Given the description of an element on the screen output the (x, y) to click on. 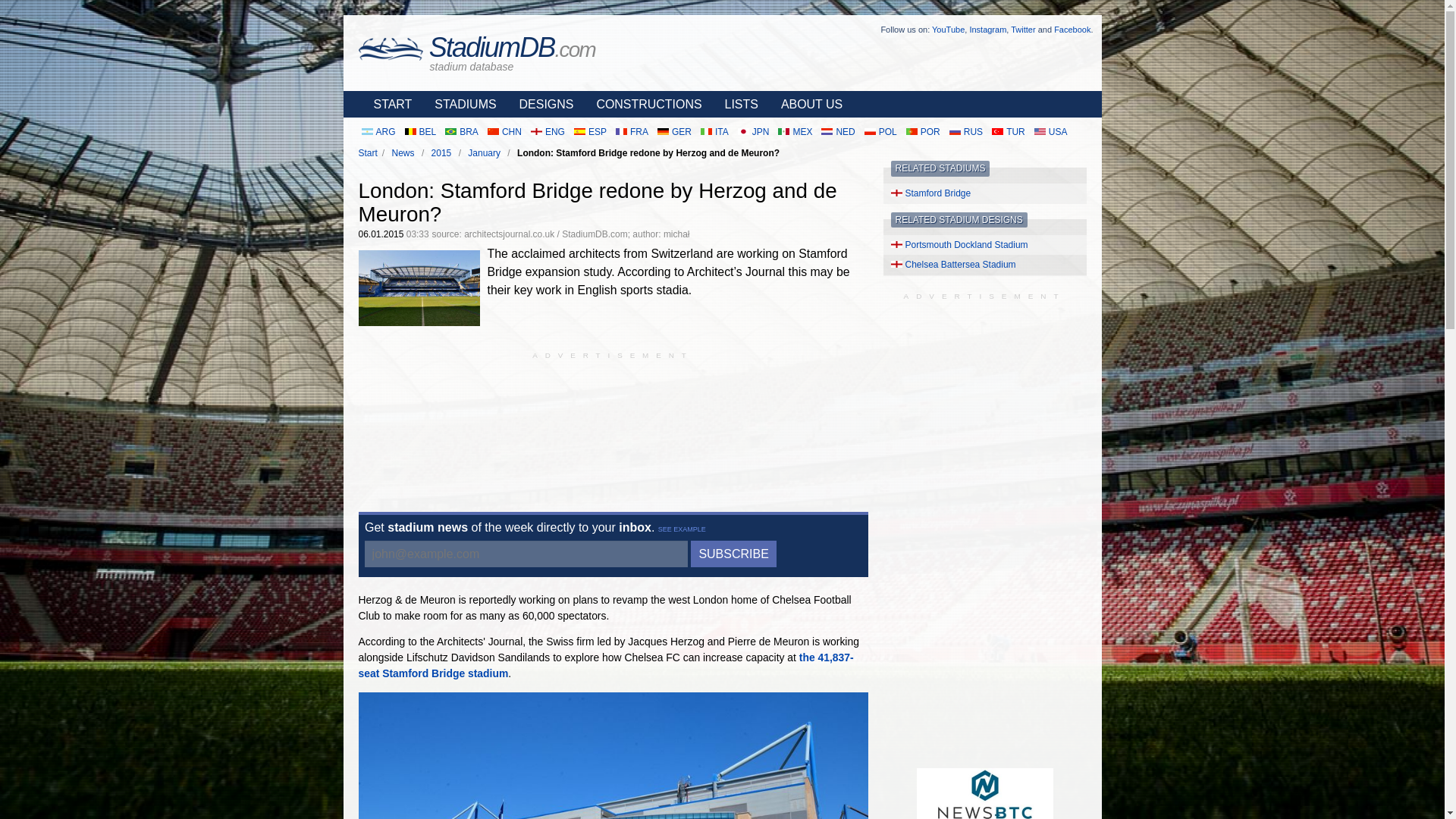
GER (673, 131)
ITA (714, 131)
January (483, 153)
MEX (794, 131)
Start (367, 153)
LISTS (737, 103)
NED (837, 131)
ENG (547, 131)
RUS (965, 131)
2015 (440, 153)
